Given the description of an element on the screen output the (x, y) to click on. 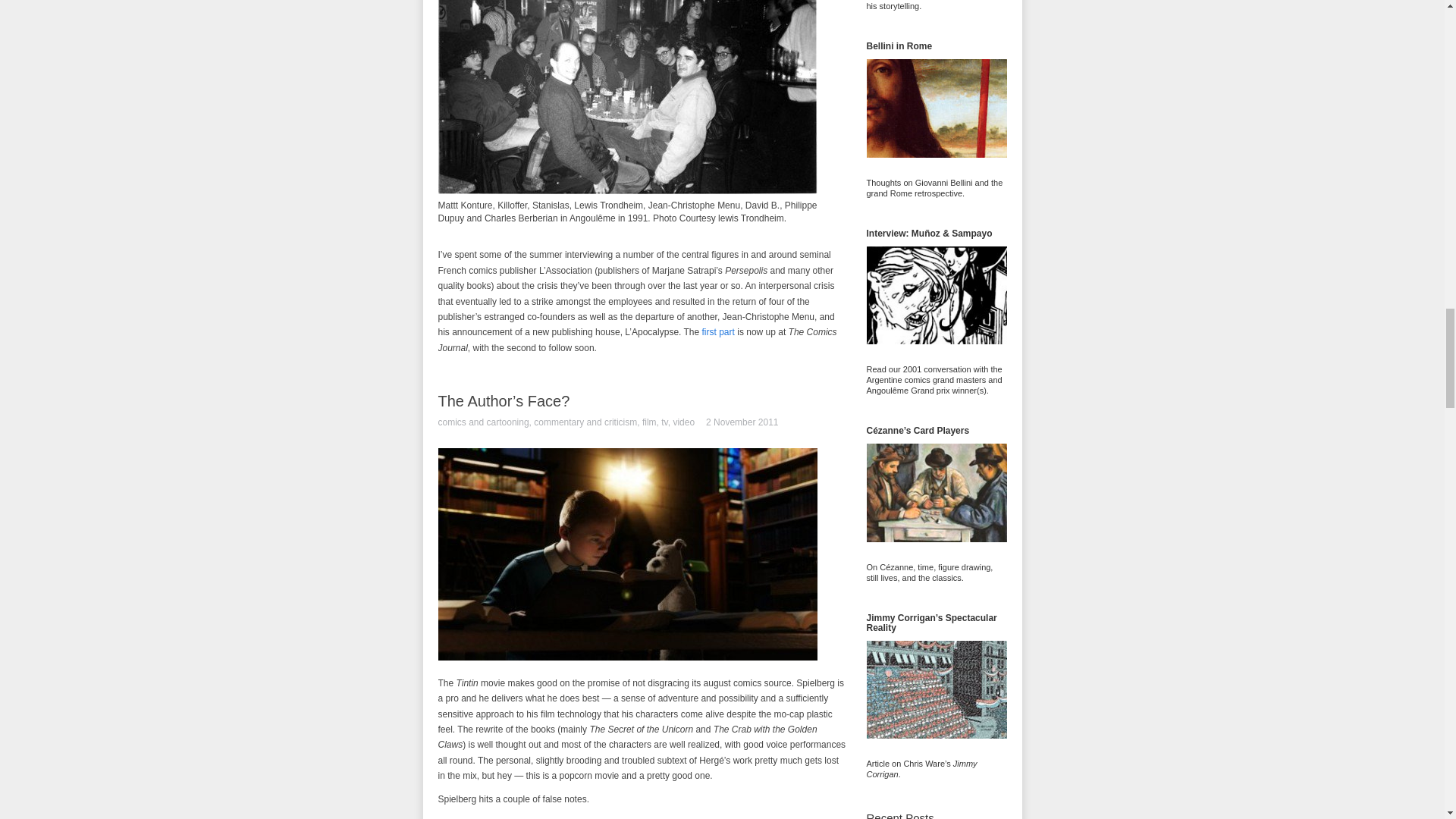
12:18 (741, 422)
